Given the description of an element on the screen output the (x, y) to click on. 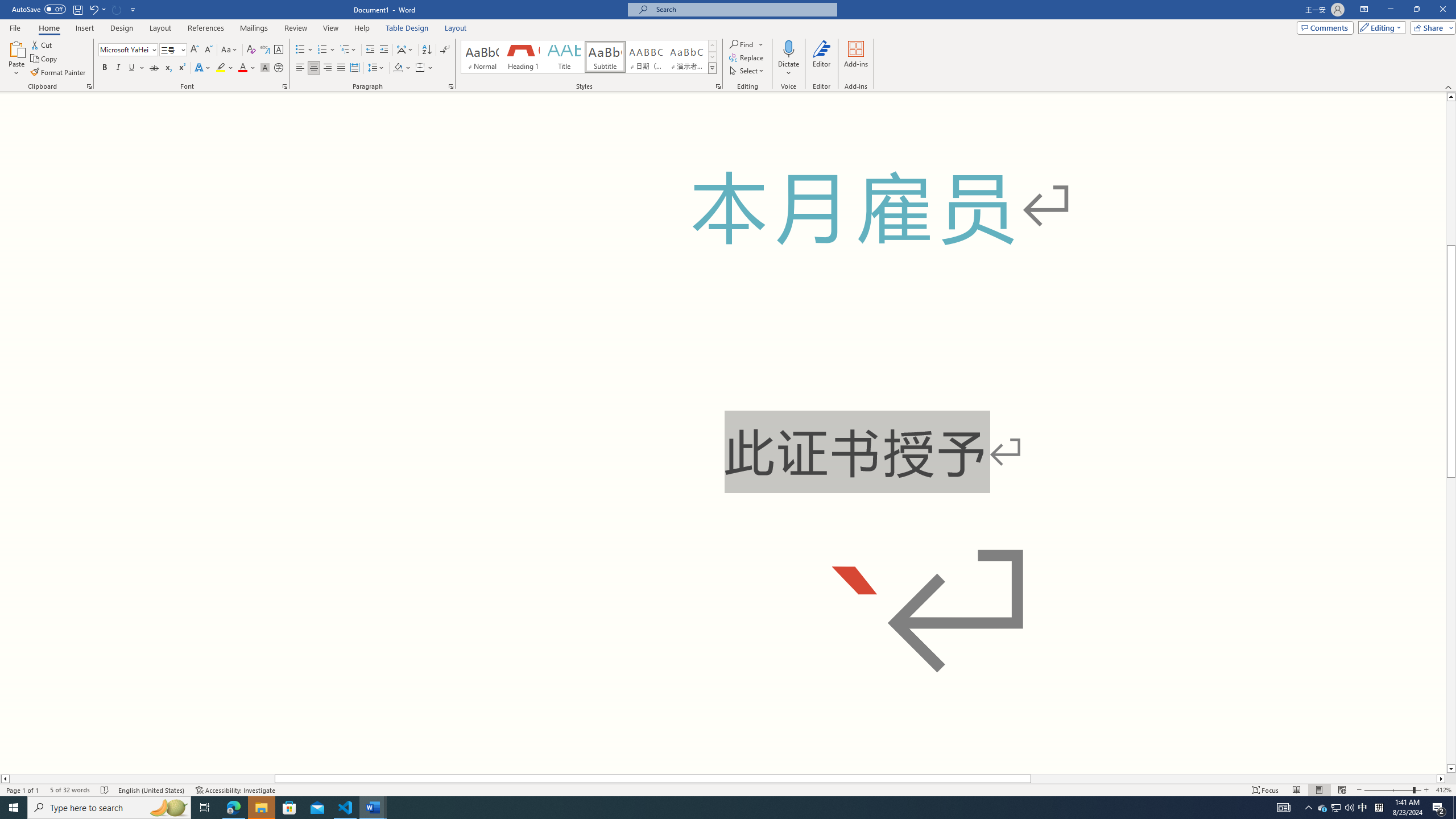
Align Left (300, 67)
Editing (1379, 27)
Quick Access Toolbar (74, 9)
Class: MsoCommandBar (728, 45)
Change Case (229, 49)
Font Color (246, 67)
Align Right (327, 67)
Line up (1450, 96)
Review (295, 28)
Bold (104, 67)
Multilevel List (347, 49)
Character Border (278, 49)
Font (128, 49)
Class: NetUIImage (712, 68)
